Given the description of an element on the screen output the (x, y) to click on. 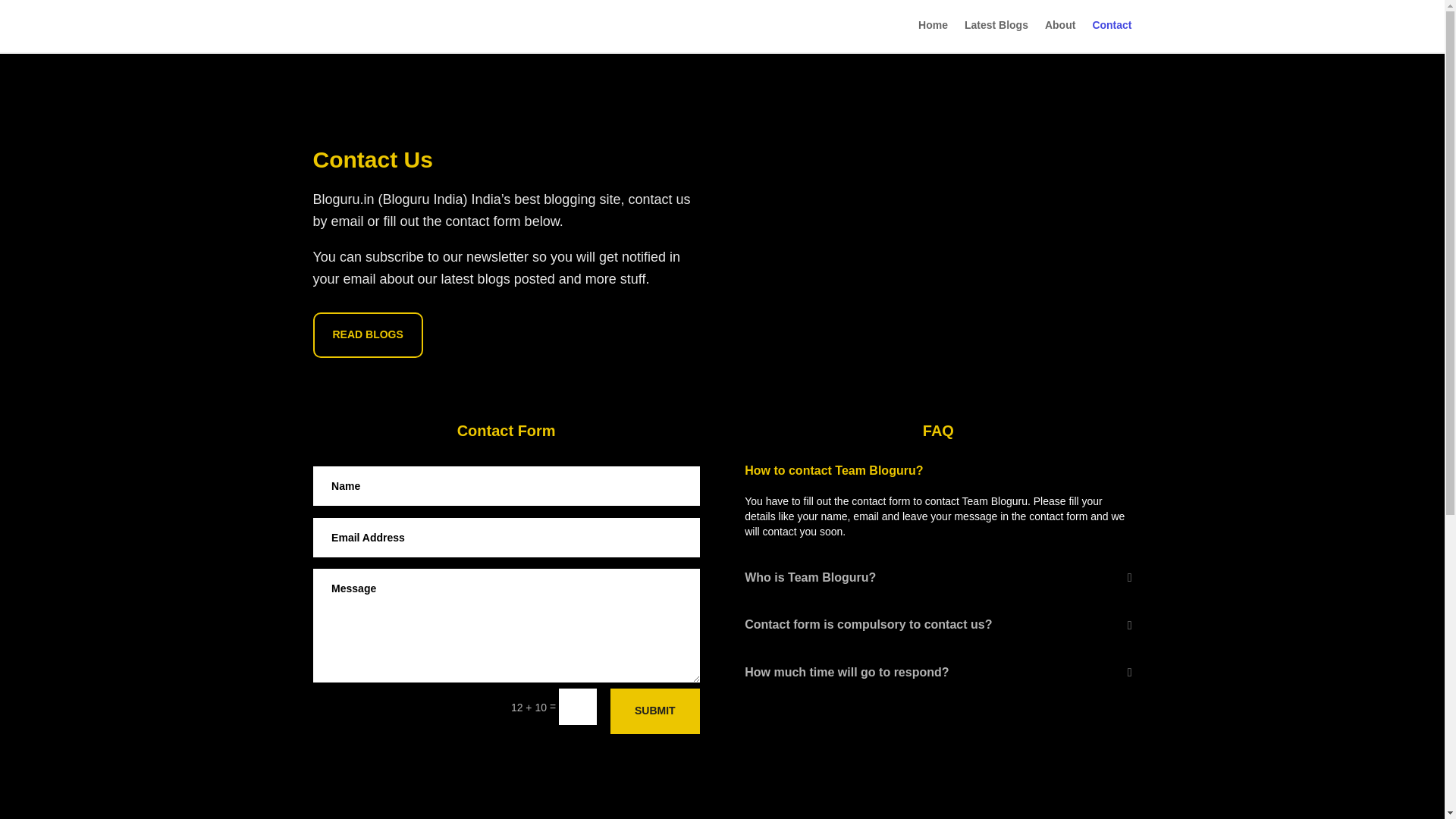
READ BLOGS (367, 334)
Latest Blogs (995, 27)
SUBMIT (655, 710)
